Given the description of an element on the screen output the (x, y) to click on. 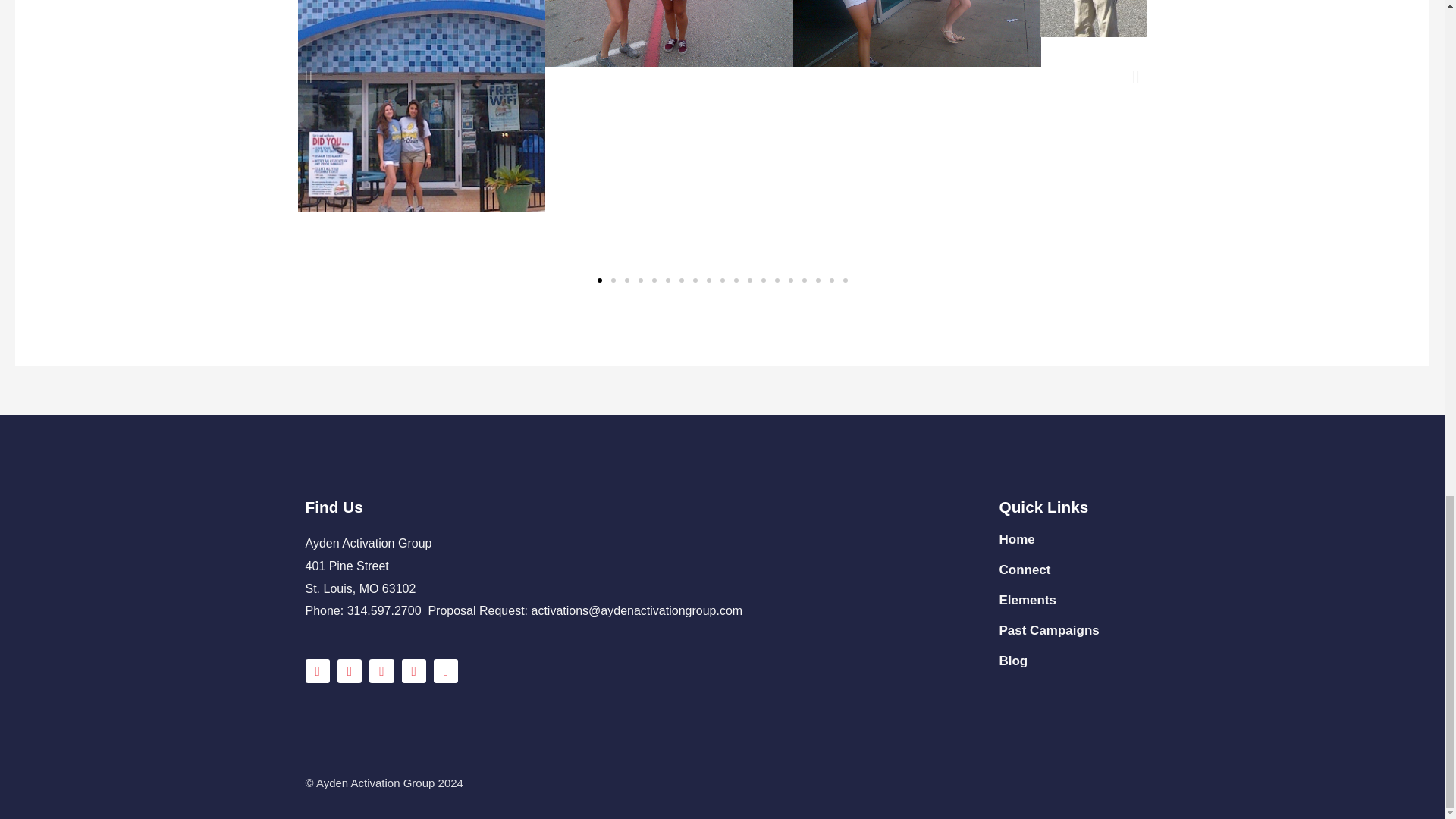
Connect (1067, 570)
Blog (1067, 661)
Home (1067, 539)
Elements (1067, 600)
Past Campaigns (1067, 630)
